Given the description of an element on the screen output the (x, y) to click on. 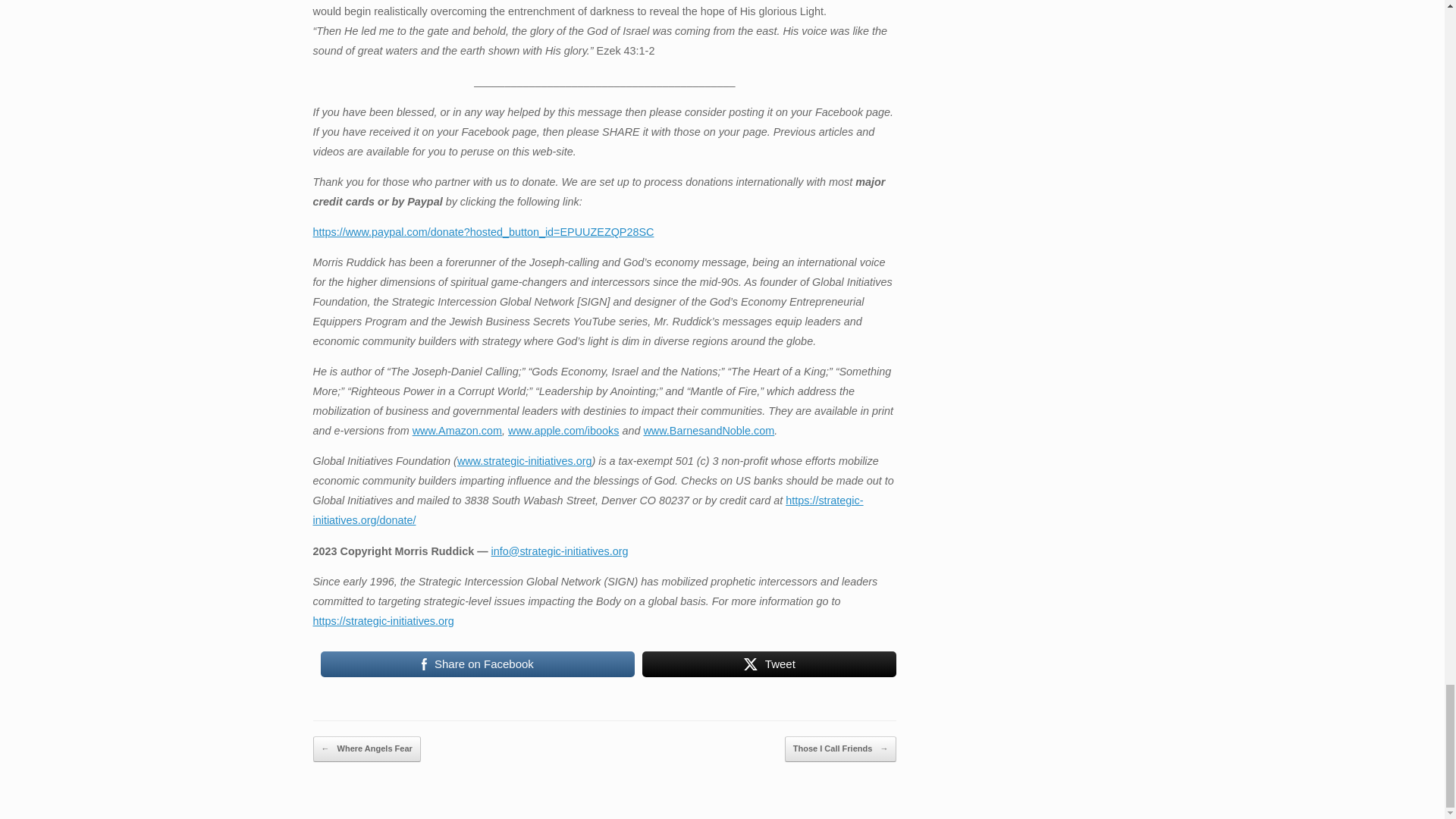
www.Amazon.com (457, 430)
Tweet (769, 664)
Share on Facebook (477, 664)
www.BarnesandNoble.com (708, 430)
www.strategic-initiatives.org (524, 460)
